Given the description of an element on the screen output the (x, y) to click on. 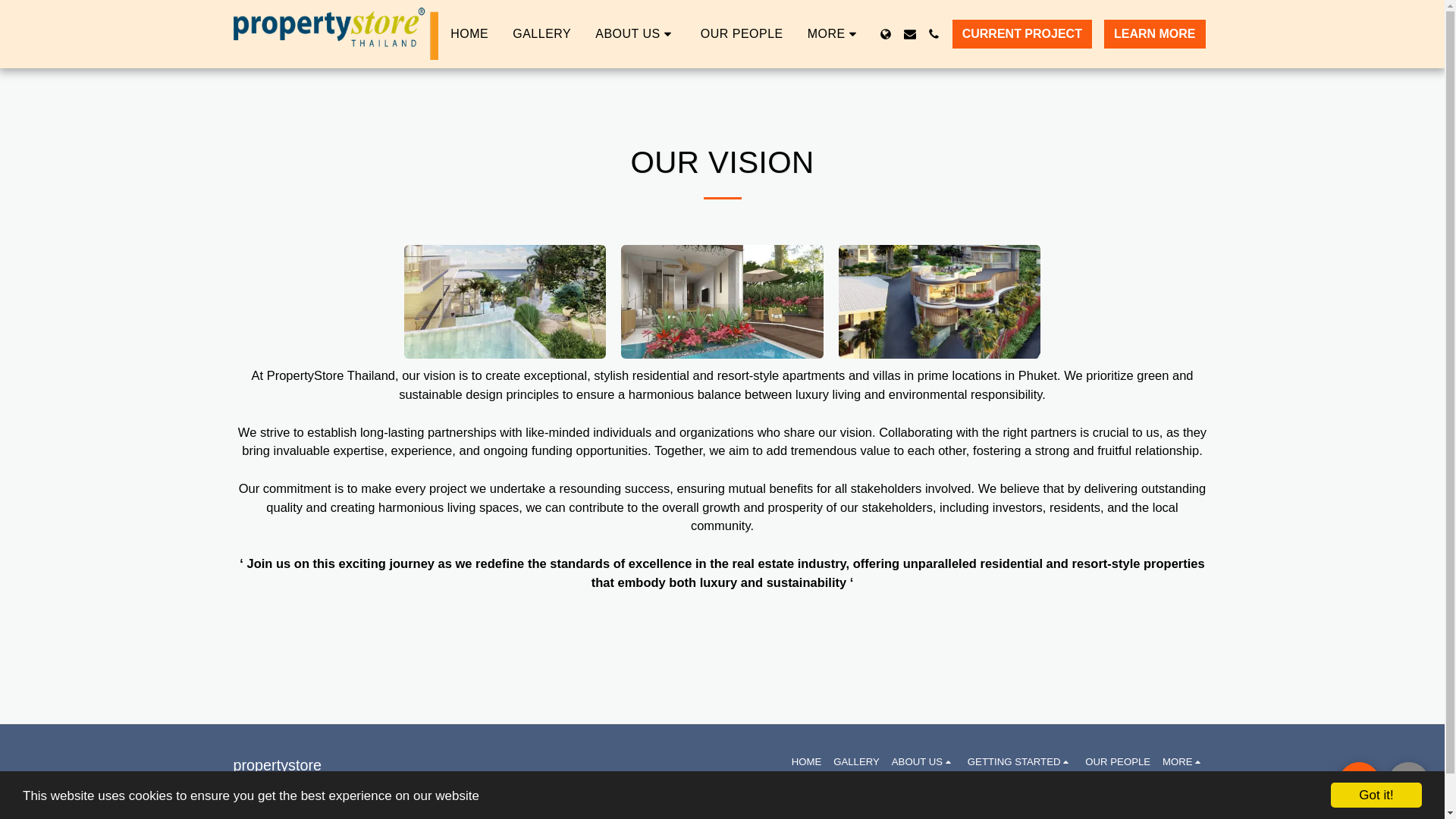
LEARN MORE (1154, 33)
LEARN MORE (1155, 33)
MORE   (834, 33)
OUR PEOPLE (741, 33)
GALLERY (541, 33)
ABOUT US   (635, 33)
CURRENT PROJECT (1022, 33)
CURRENT PROJECT (1022, 33)
HOME (469, 33)
